Given the description of an element on the screen output the (x, y) to click on. 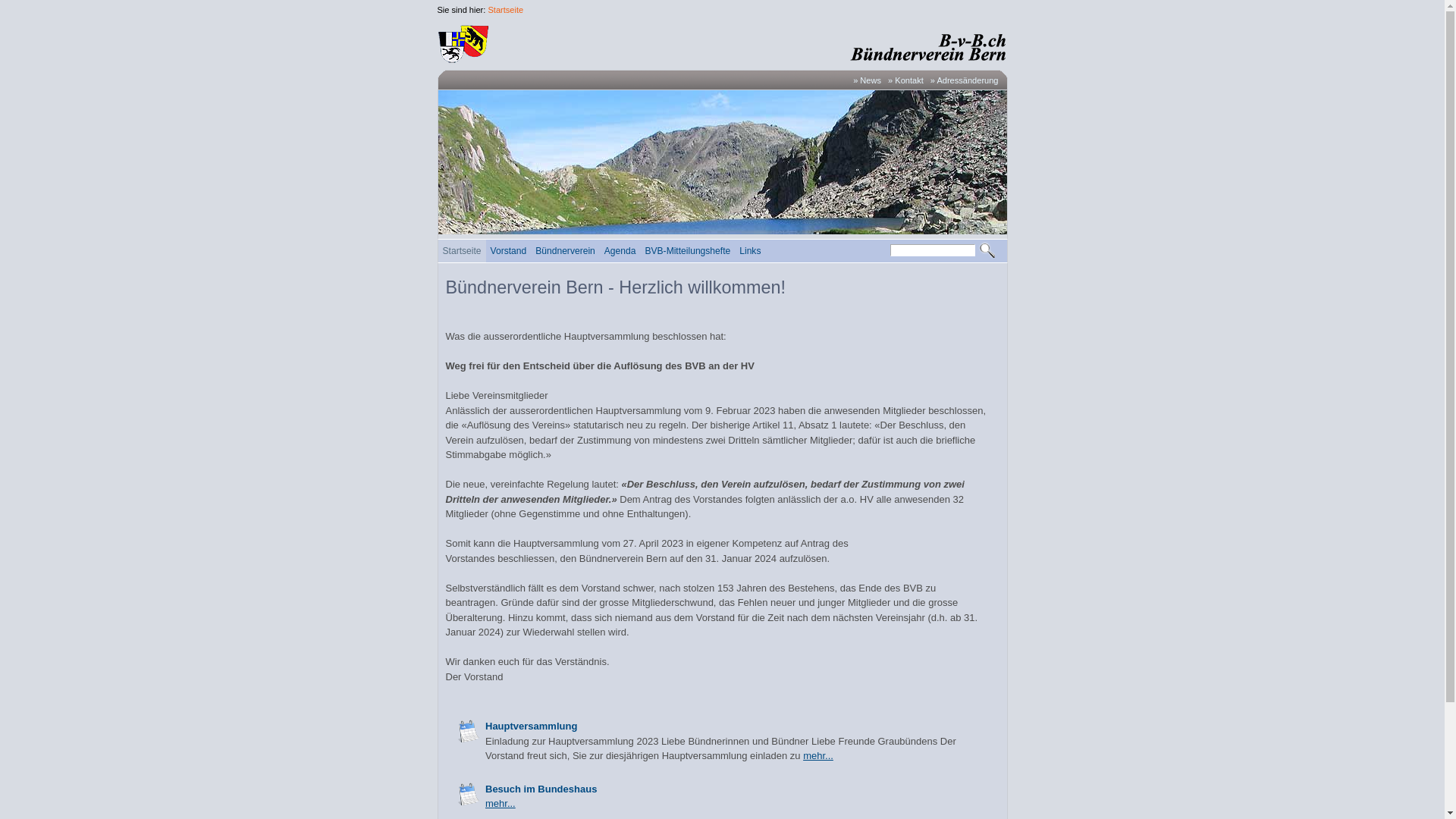
Links Element type: text (749, 250)
mehr... Element type: text (818, 755)
BVB-Mitteilungshefte Element type: text (687, 250)
Besuch im Bundeshaus Element type: text (540, 787)
Agenda Element type: text (619, 250)
Startseite Element type: text (462, 250)
mehr... Element type: text (500, 803)
Hauptversammlung Element type: hover (468, 730)
Startseite Element type: text (505, 9)
Besuch im Bundeshaus Element type: hover (468, 793)
Vorstand Element type: text (508, 250)
Ihr Logo hier Element type: hover (720, 42)
Panorama Element type: hover (722, 162)
Hauptversammlung Element type: text (531, 725)
